Given the description of an element on the screen output the (x, y) to click on. 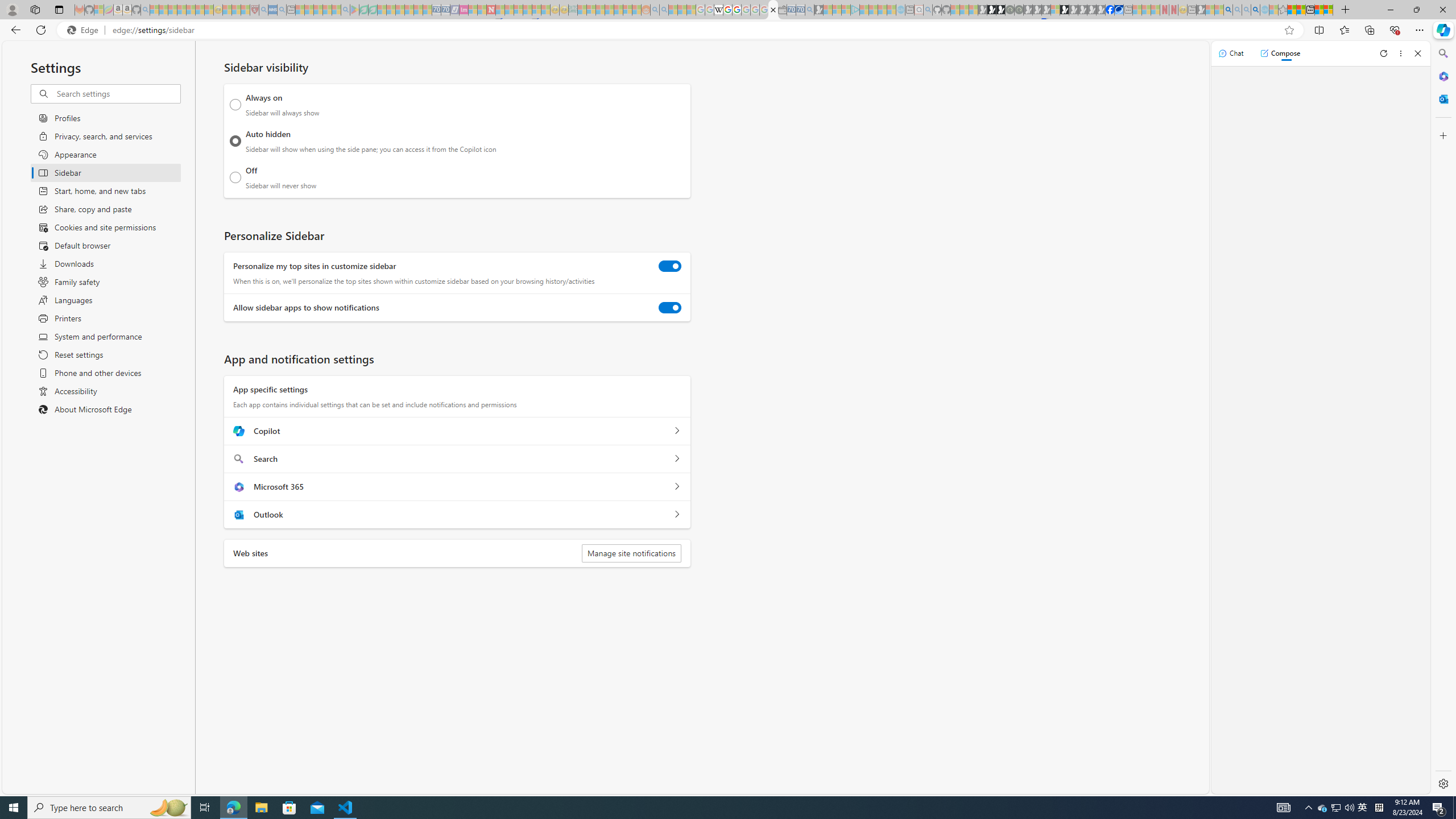
Sign in to your account - Sleeping (1054, 9)
AirNow.gov (1118, 9)
Off Sidebar will never show (235, 177)
Pets - MSN - Sleeping (326, 9)
